Given the description of an element on the screen output the (x, y) to click on. 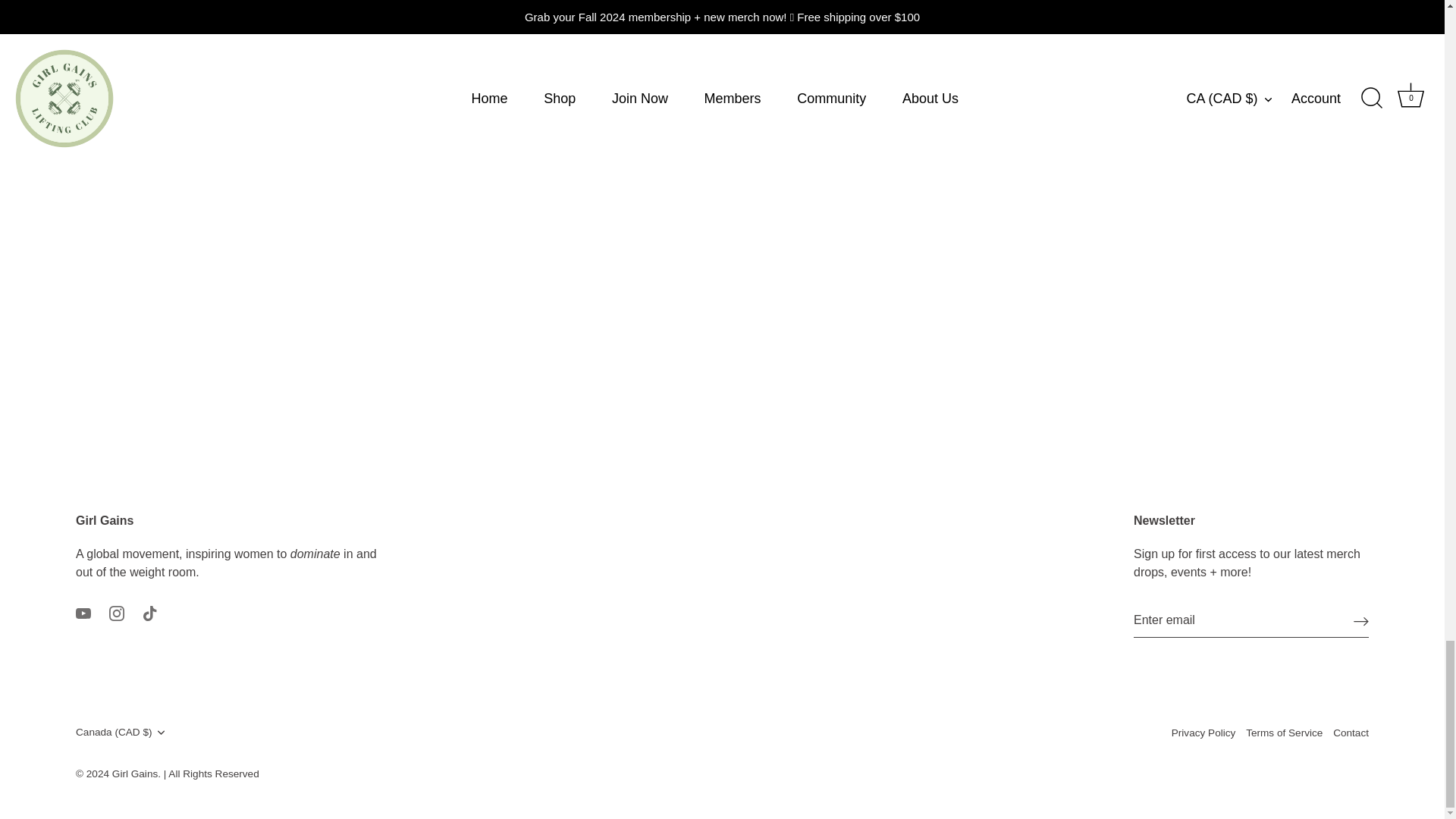
Youtube (82, 613)
Instagram (116, 613)
Right arrow long (1361, 620)
